Given the description of an element on the screen output the (x, y) to click on. 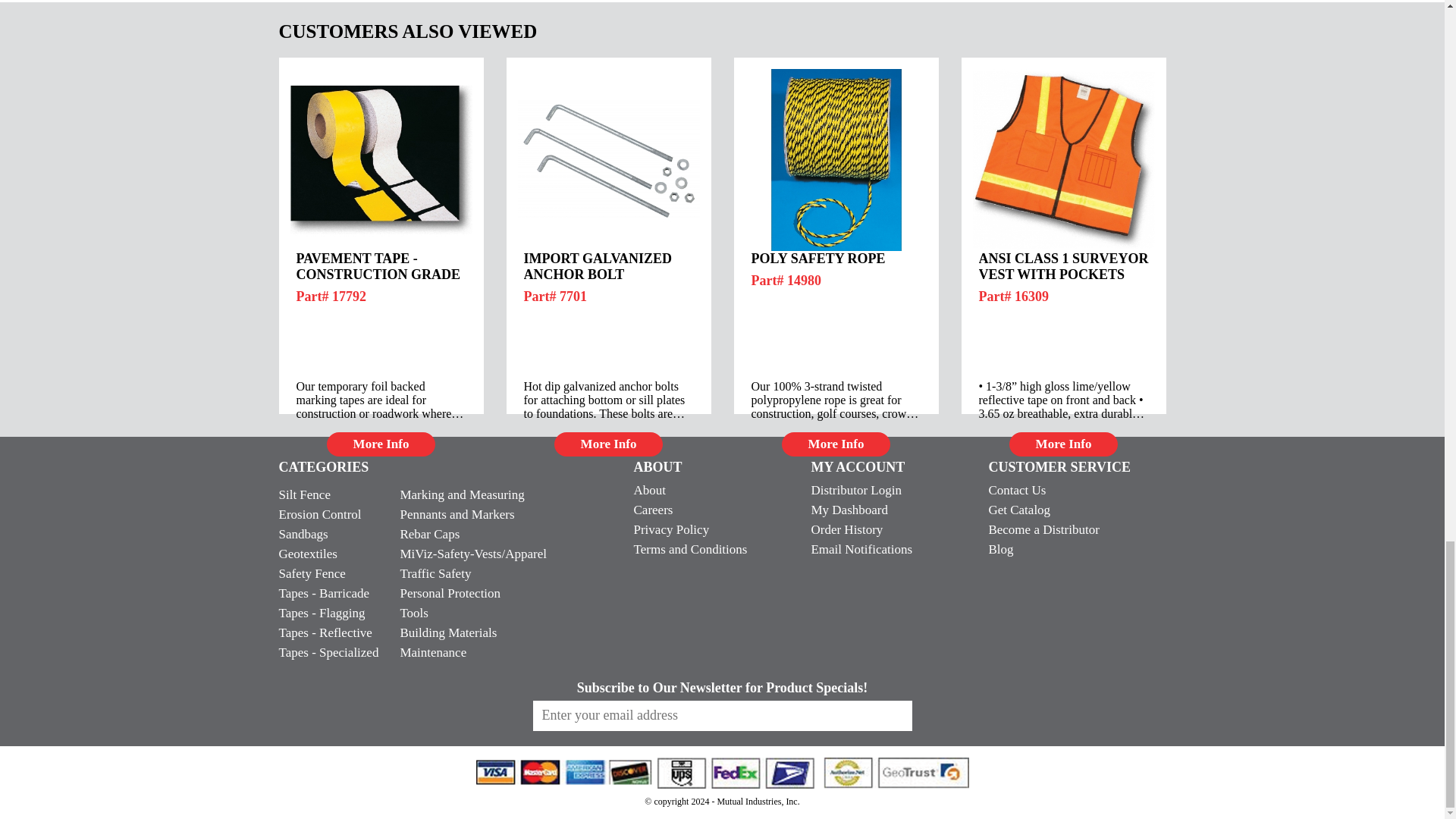
17792, Pavement Tape - Construction Grade, MutualIndustries (380, 159)
PAVEMENT TAPE - CONSTRUCTION GRADE (380, 266)
7701, Import Galvanized Anchor Bolt, MutualIndustries (607, 159)
14980, Poly Safety Rope, MutualIndustries (835, 159)
